Given the description of an element on the screen output the (x, y) to click on. 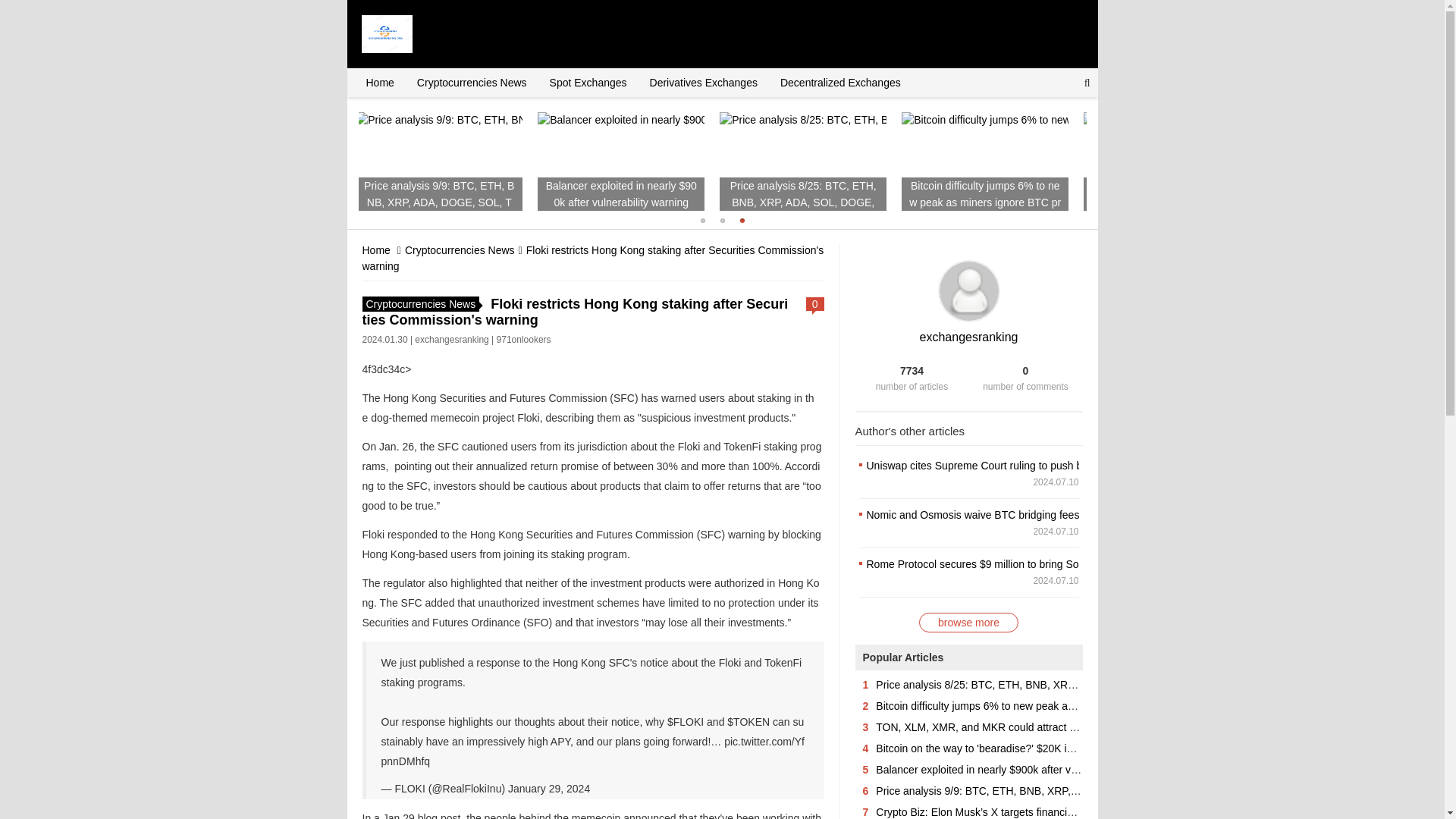
Spot Exchanges (587, 82)
Cryptocurrencies News (471, 82)
Decentralized Exchanges (840, 82)
0 (815, 304)
Decentralized Exchanges (840, 82)
Derivatives Exchanges (703, 82)
Home (379, 82)
exchangesranking (968, 336)
Derivatives Exchanges (703, 82)
Cryptocurrencies News (459, 250)
